Given the description of an element on the screen output the (x, y) to click on. 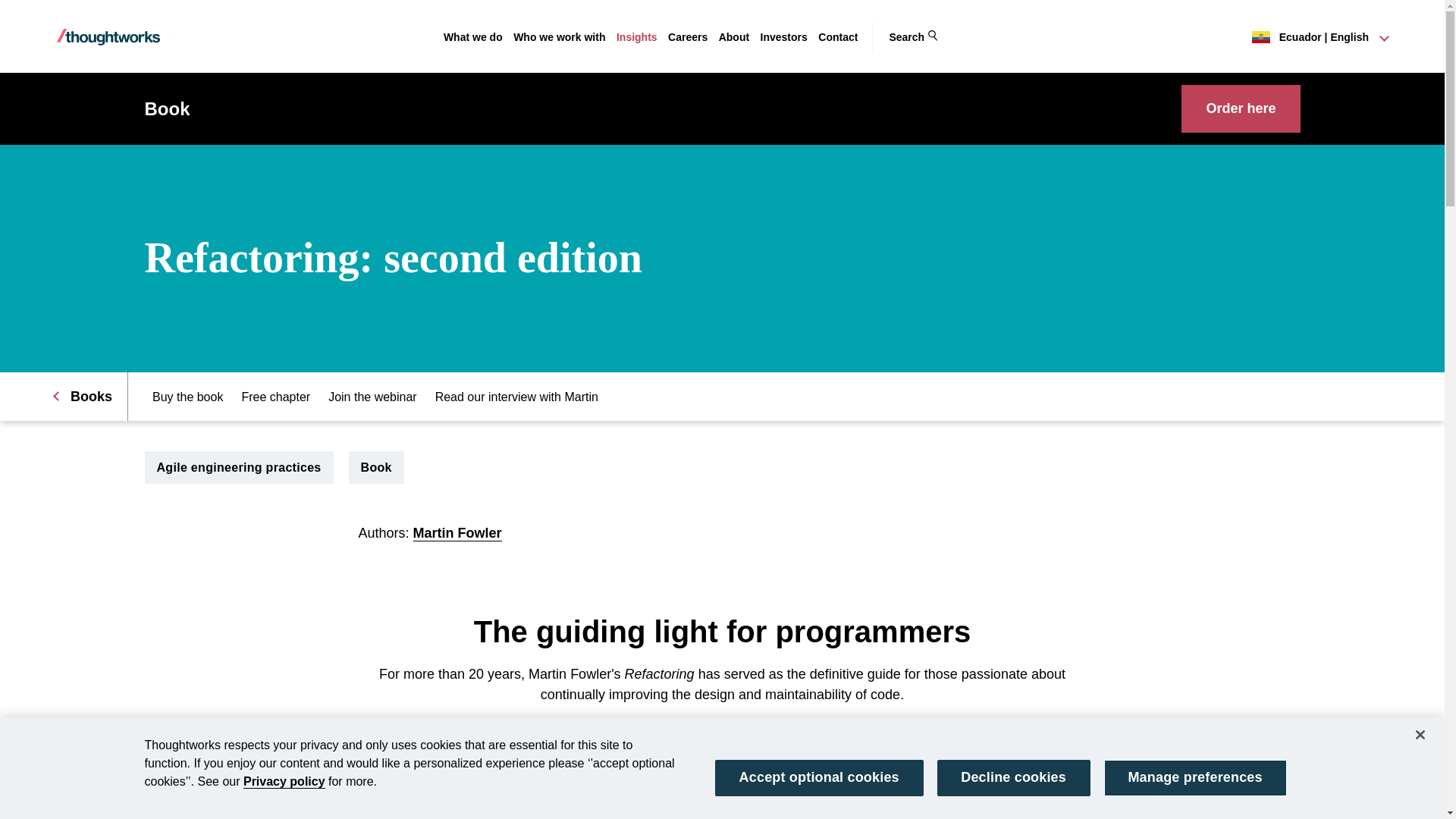
What we do (473, 37)
Careers (687, 37)
Thoughtworks (108, 36)
Who we work with (559, 37)
Insights (636, 37)
What we do (473, 37)
Insights (636, 37)
Who we work with (559, 37)
Thoughtworks (108, 36)
